Given the description of an element on the screen output the (x, y) to click on. 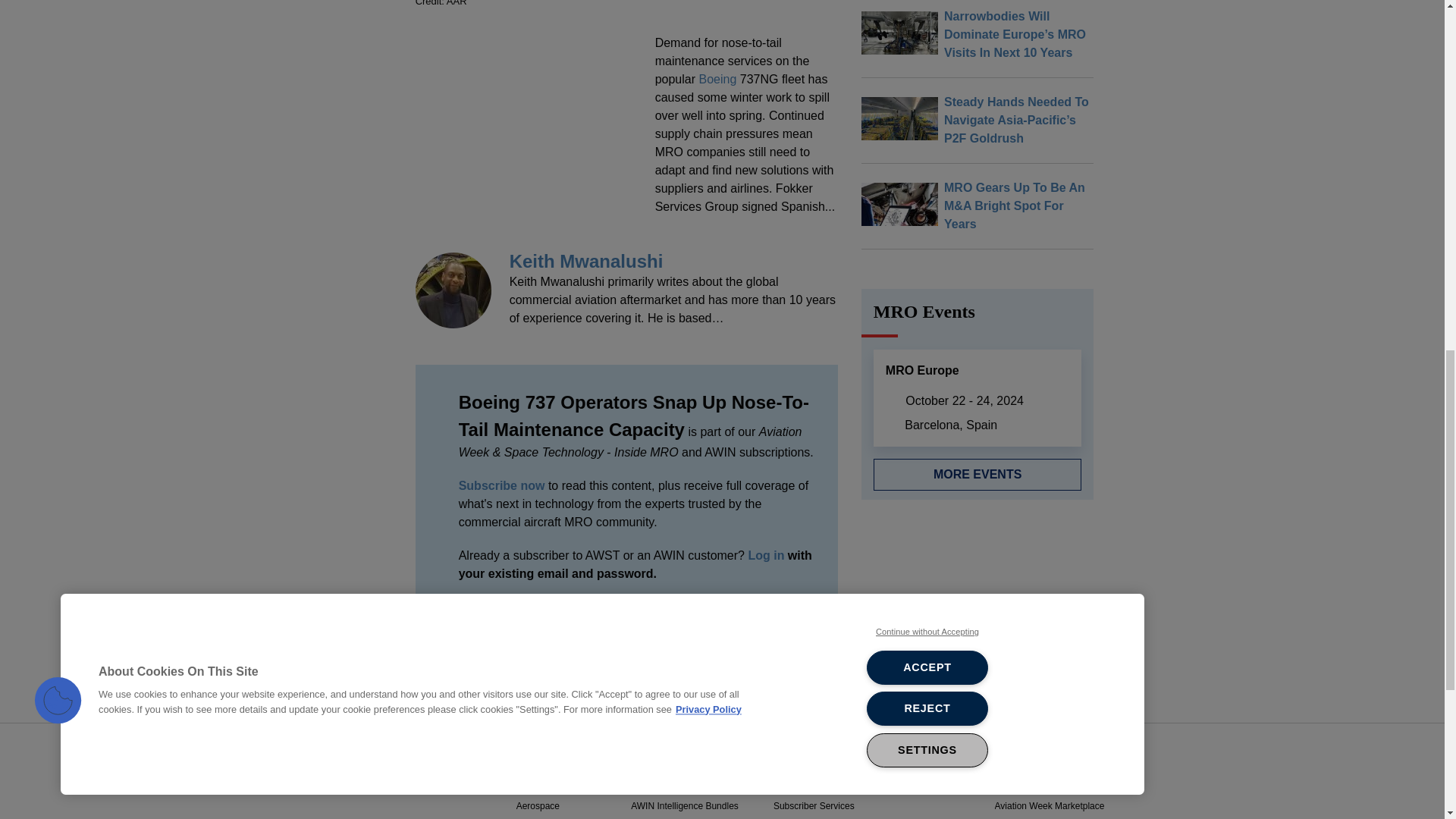
3rd party ad content (528, 140)
